Given the description of an element on the screen output the (x, y) to click on. 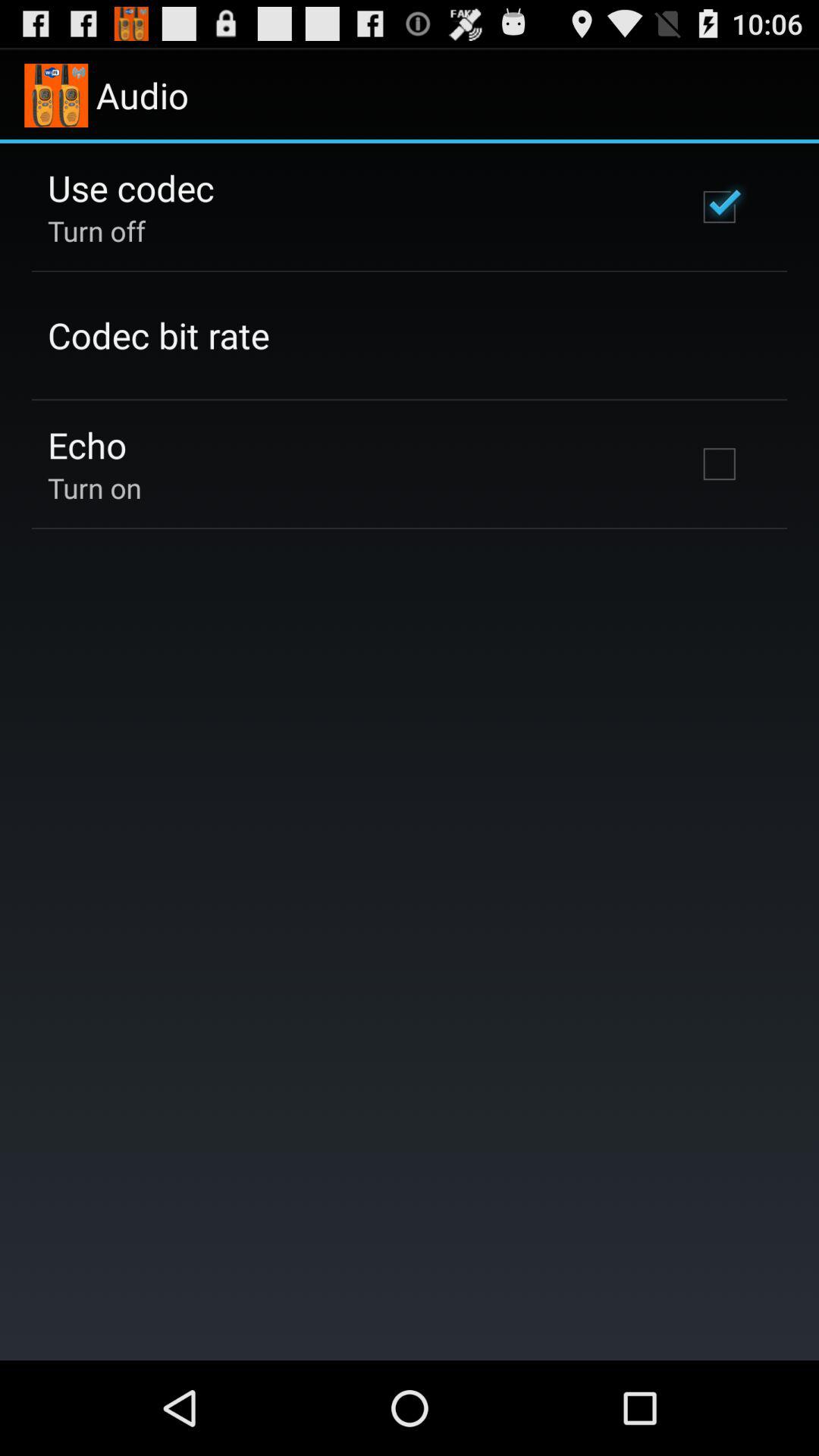
flip until the codec bit rate app (158, 335)
